Given the description of an element on the screen output the (x, y) to click on. 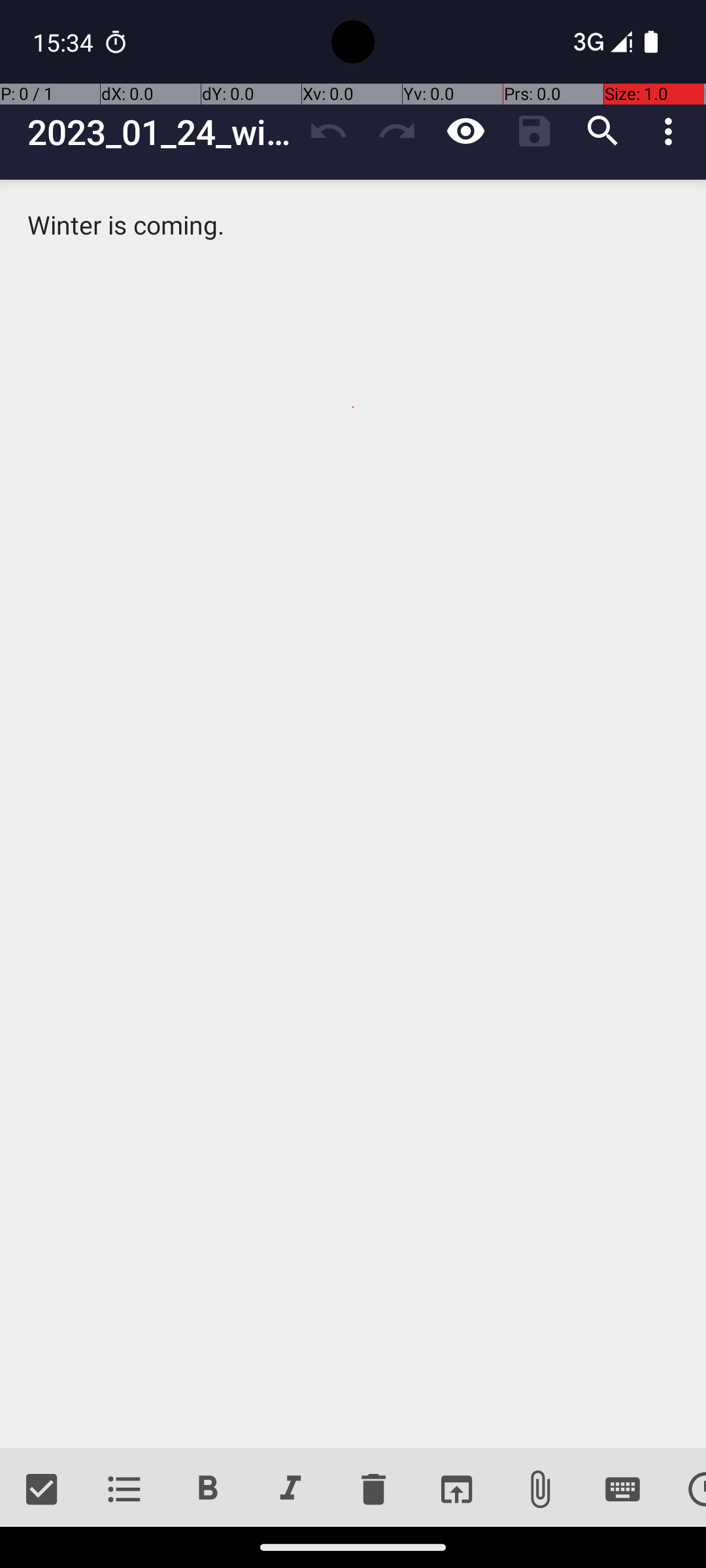
2023_01_24_wise_lamp Element type: android.widget.TextView (160, 131)
Winter is coming.
 Element type: android.widget.EditText (353, 813)
